Given the description of an element on the screen output the (x, y) to click on. 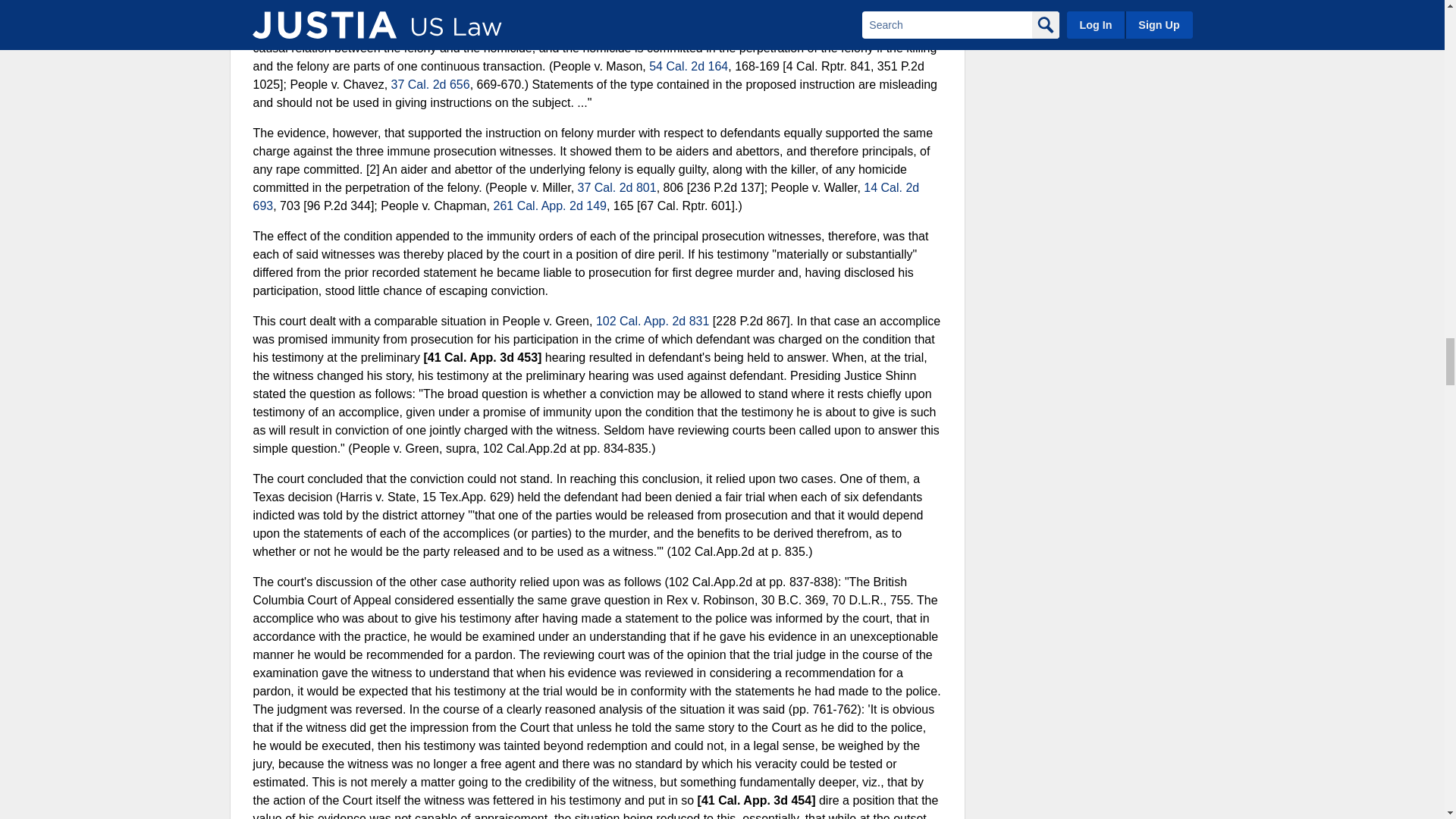
37 Cal. 2d 801 (617, 187)
54 Cal. 2d 164 (688, 65)
14 Cal. 2d 693 (586, 196)
37 Cal. 2d 656 (430, 83)
261 Cal. App. 2d 149 (549, 205)
